Given the description of an element on the screen output the (x, y) to click on. 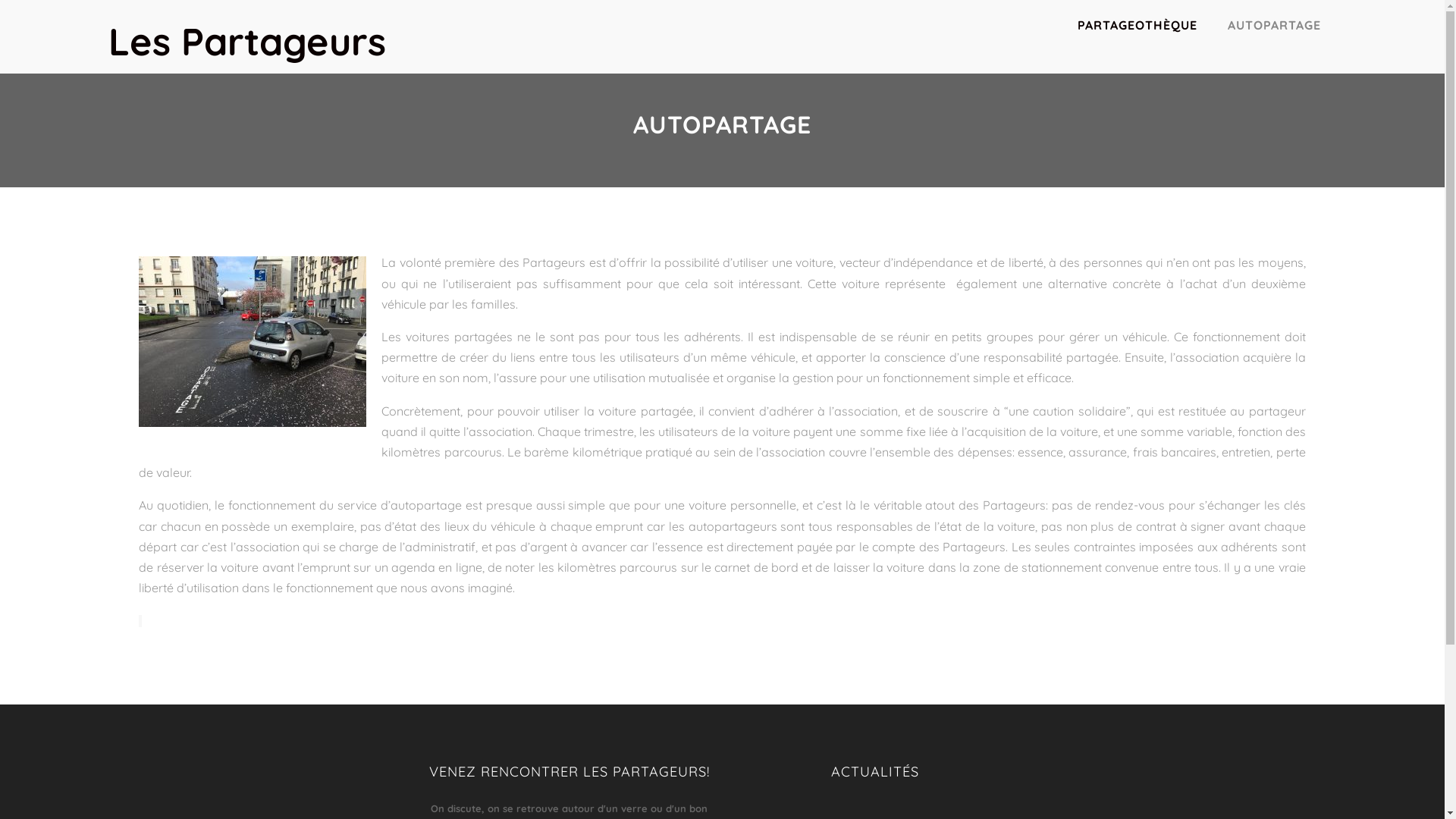
Les Partageurs Element type: text (246, 41)
AUTOPARTAGE Element type: text (1274, 24)
